Given the description of an element on the screen output the (x, y) to click on. 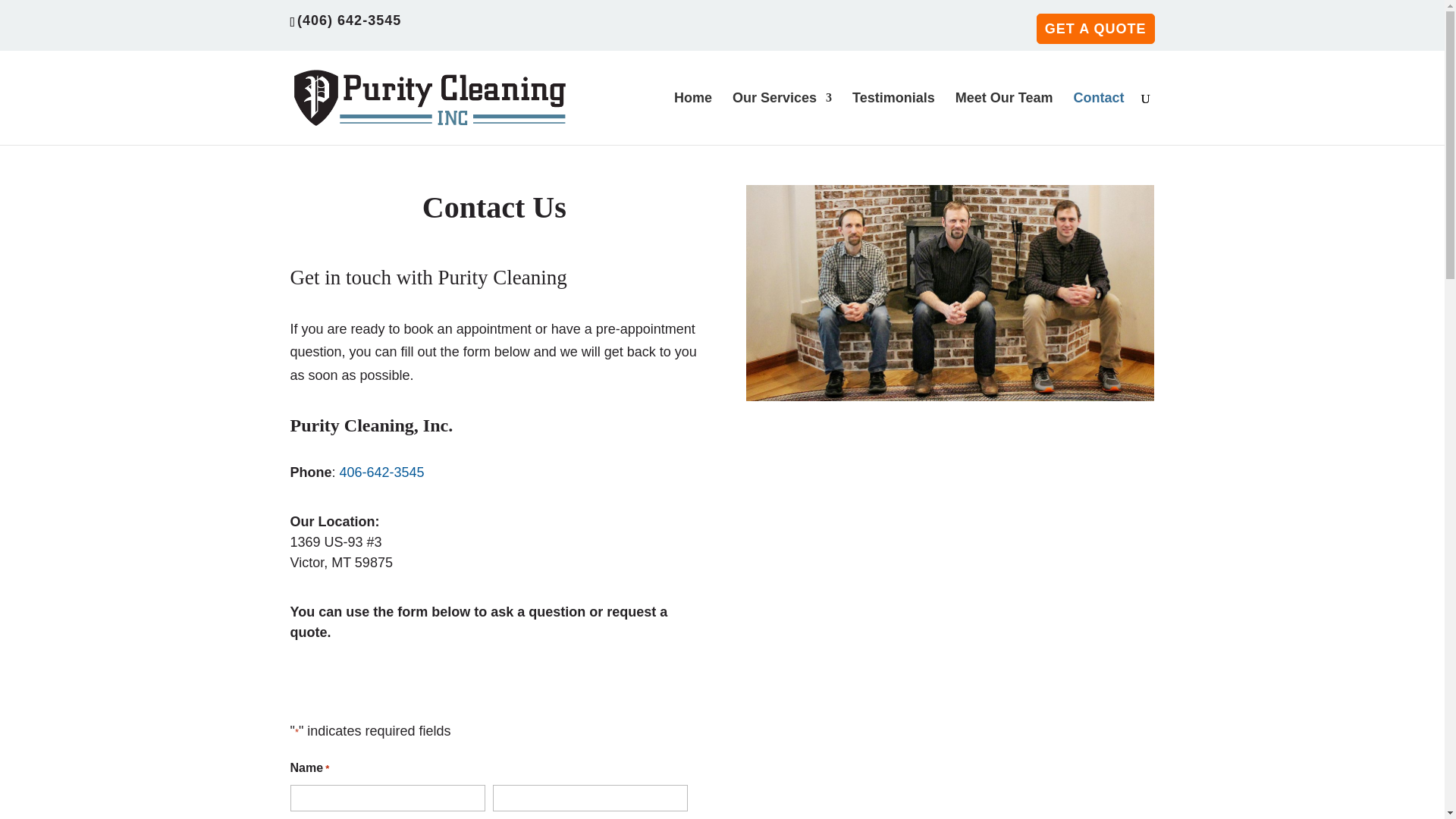
GET A QUOTE (1095, 28)
Purity Cleaning Team (949, 293)
406-642-3545 (382, 472)
Our Services (781, 118)
Testimonials (892, 118)
Meet Our Team (1003, 118)
Contact (1099, 118)
